Given the description of an element on the screen output the (x, y) to click on. 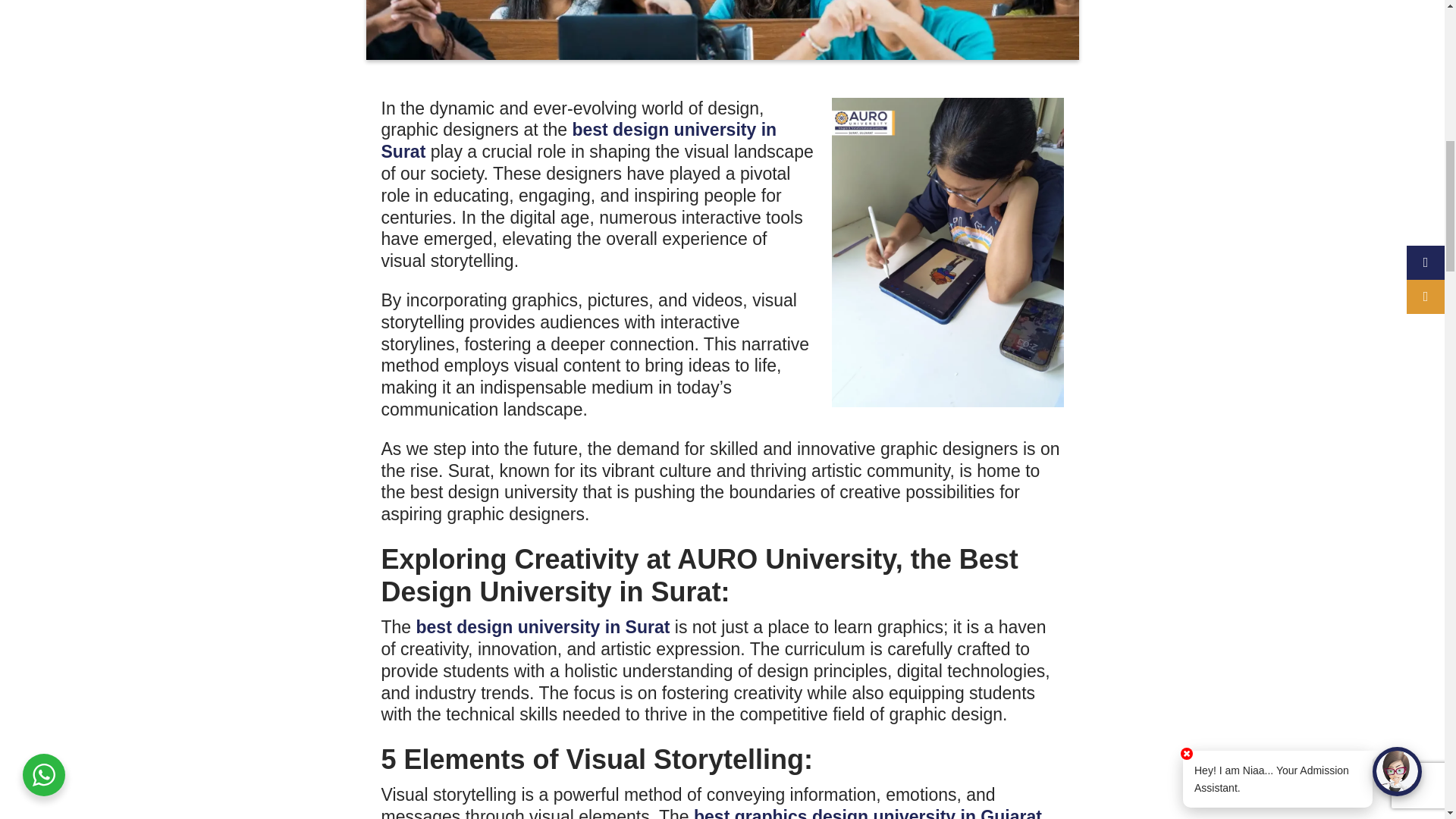
Minimize (1415, 87)
Restart (1393, 87)
